Given the description of an element on the screen output the (x, y) to click on. 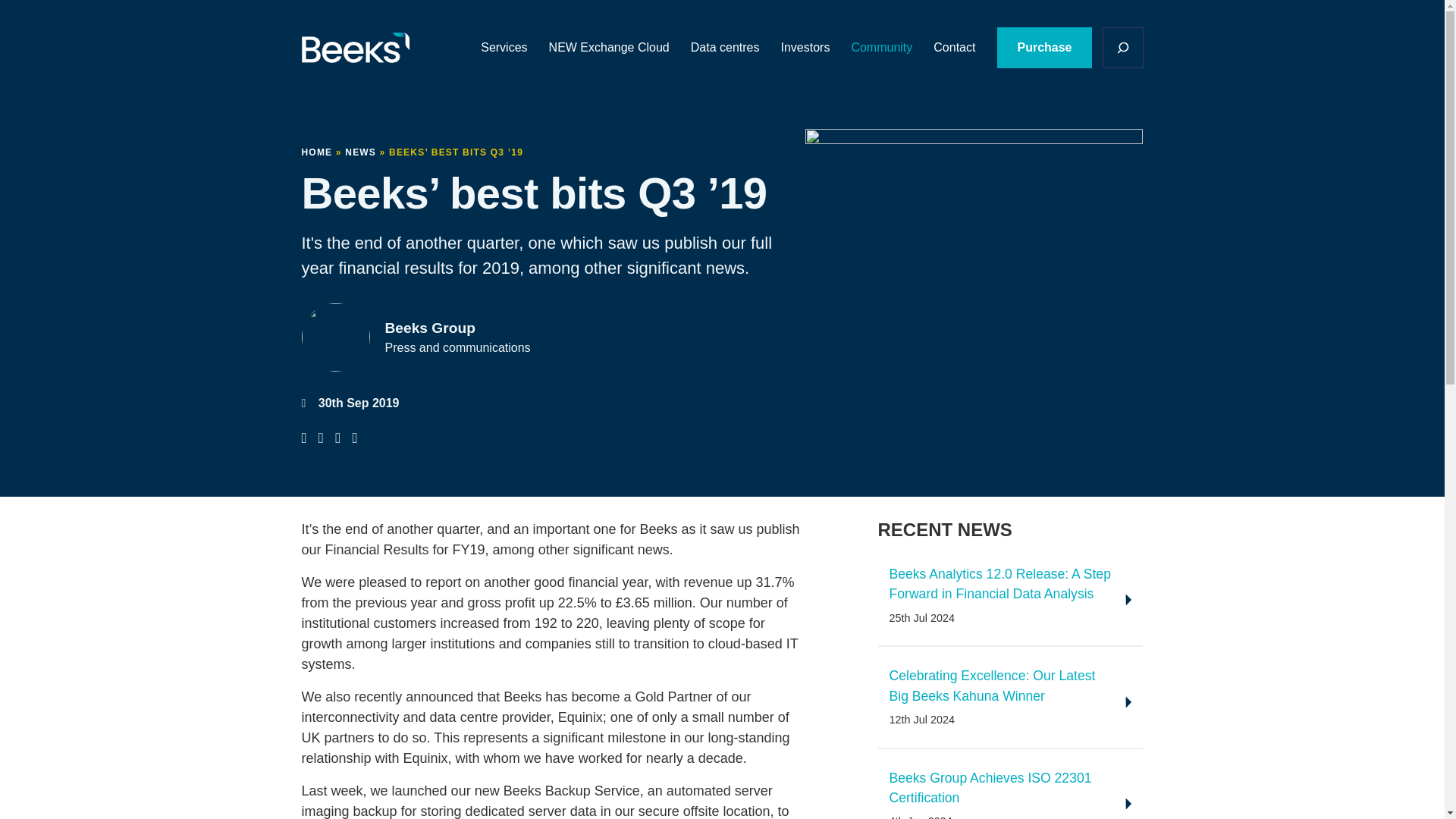
Data centres (724, 47)
Beeks Group (360, 47)
NEW Exchange Cloud (608, 47)
Search (1071, 146)
